Given the description of an element on the screen output the (x, y) to click on. 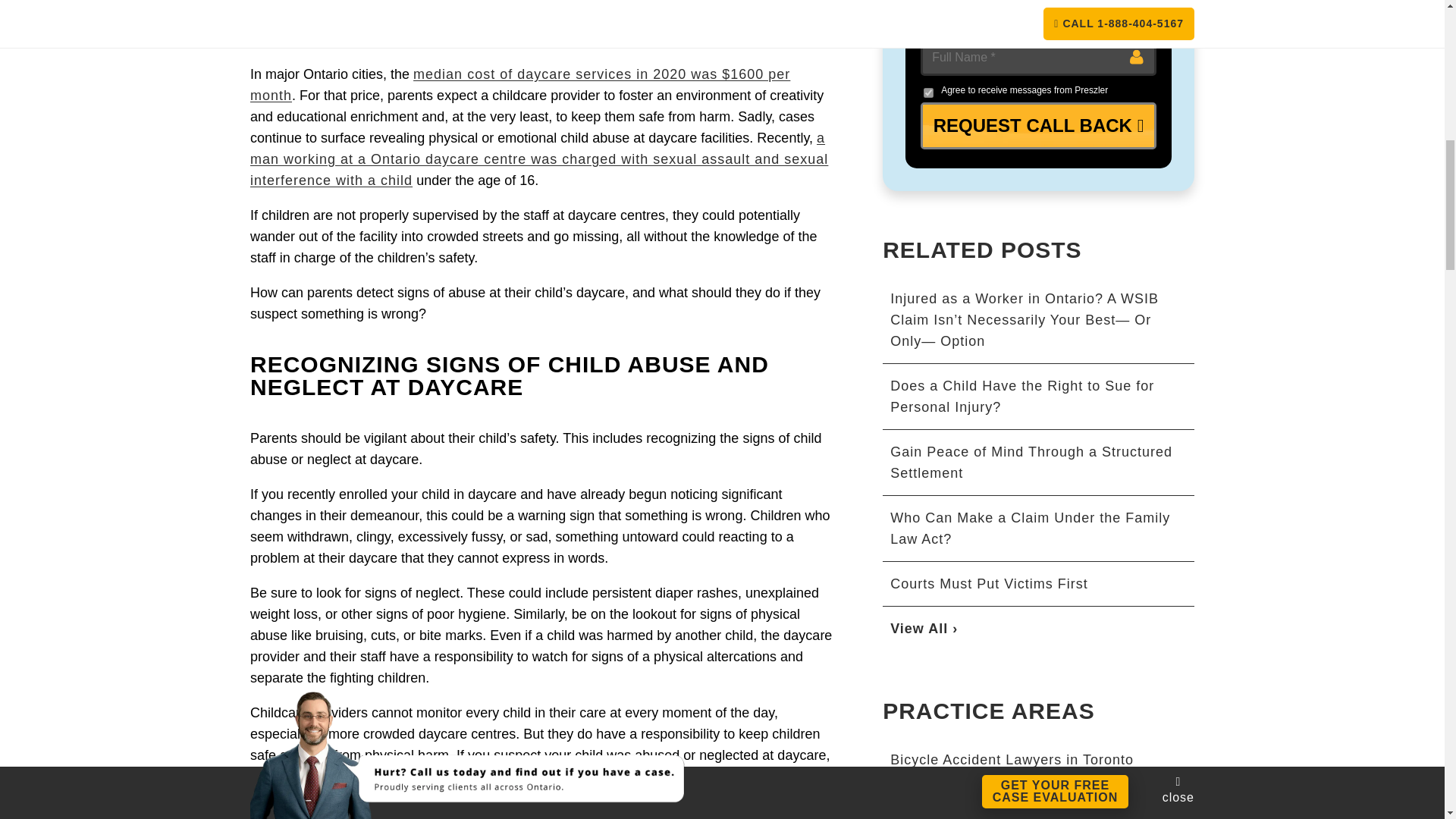
1 (928, 92)
